Given the description of an element on the screen output the (x, y) to click on. 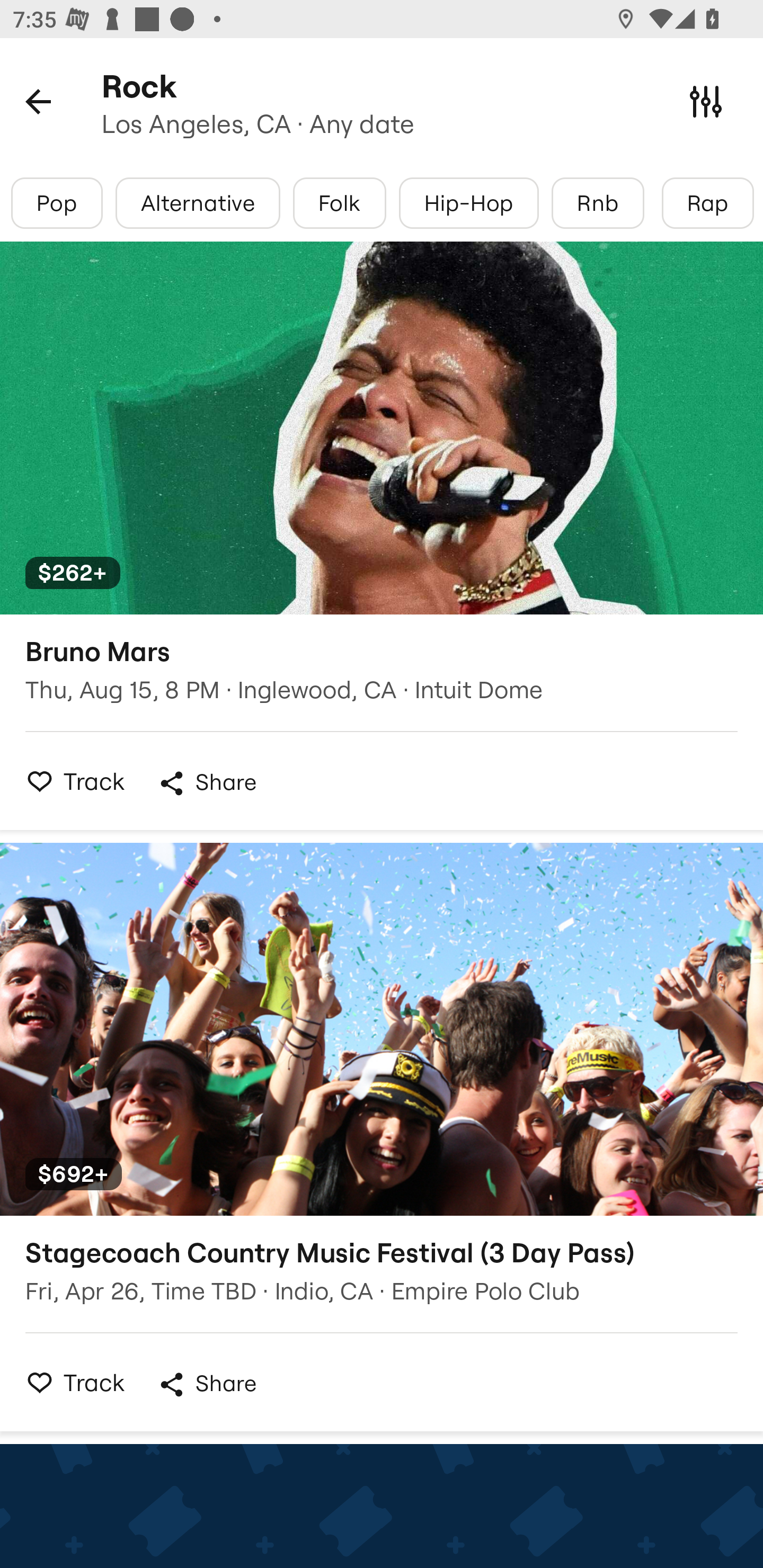
Back (38, 100)
Filters (705, 100)
Pop (57, 202)
Alternative (197, 202)
Folk (339, 202)
Hip-Hop (468, 202)
Rnb (597, 202)
Rap (707, 202)
Track (70, 780)
Share (207, 783)
Track (70, 1381)
Share (207, 1384)
